Given the description of an element on the screen output the (x, y) to click on. 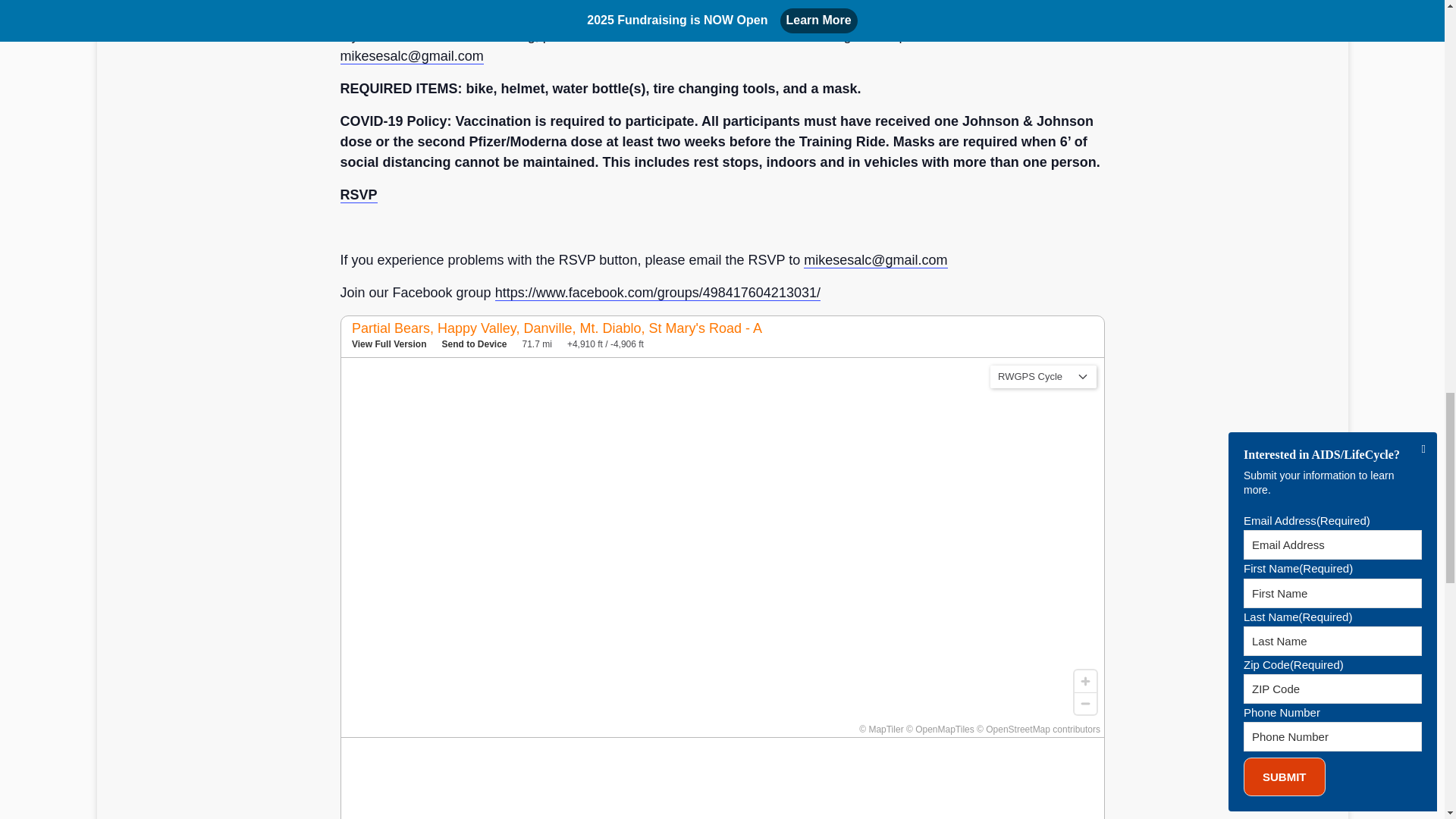
RSVP (358, 195)
